Given the description of an element on the screen output the (x, y) to click on. 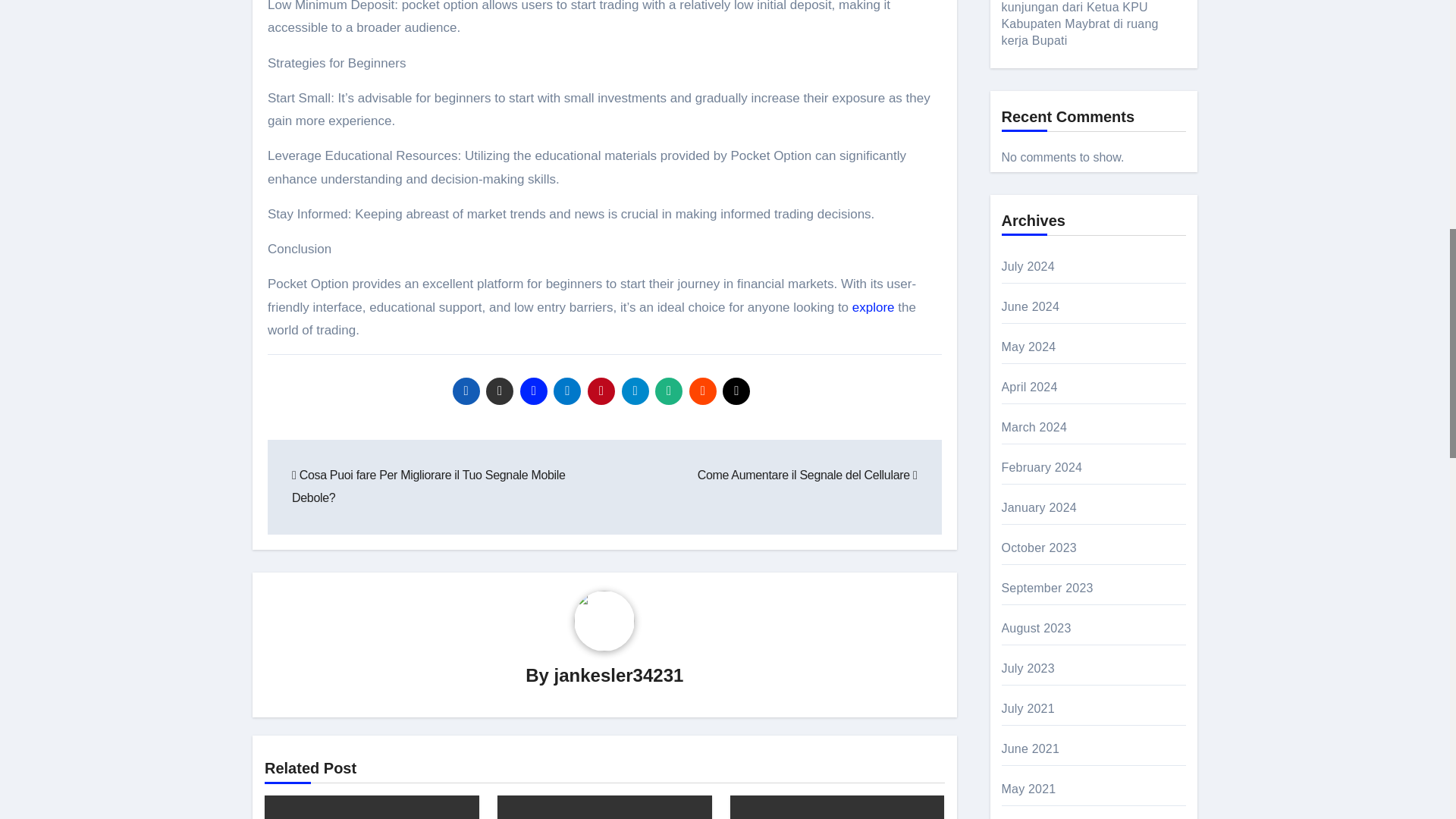
explore (873, 307)
jankesler34231 (619, 674)
Come Aumentare il Segnale del Cellulare (807, 474)
Cosa Puoi fare Per Migliorare il Tuo Segnale Mobile Debole? (429, 486)
